Given the description of an element on the screen output the (x, y) to click on. 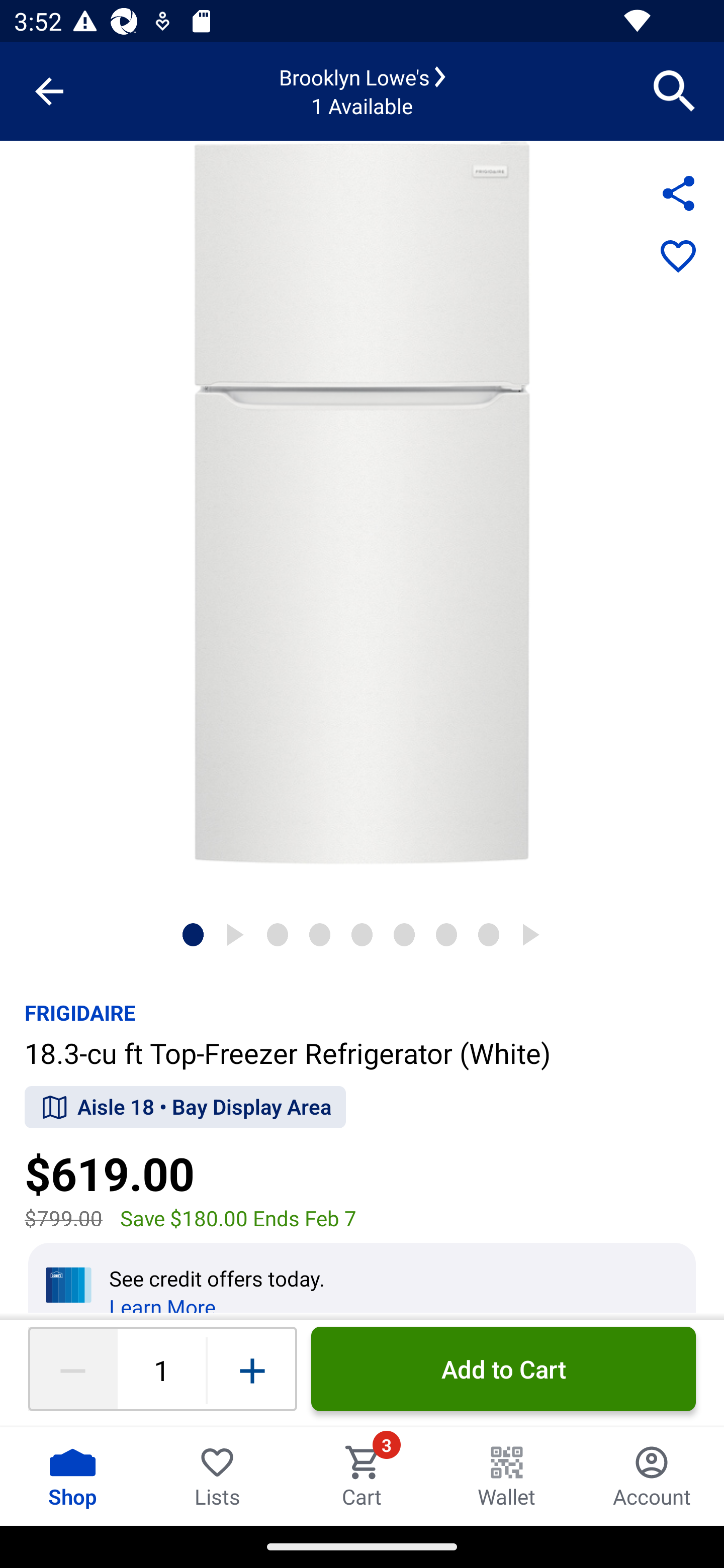
Navigate up (49, 91)
Search for products (674, 90)
Brooklyn Lowe's  1 Available (361, 91)
18.3-cu ft Top-Freezer Refrigerator (White) (362, 502)
Share (678, 193)
Save to List (678, 256)
Aisle Bay Aisle 18 • Bay Display Area (185, 1107)
See credit offers today. Learn More (361, 1277)
Decrease quantity (72, 1368)
1 (161, 1368)
Increase quantity (251, 1368)
Add to Cart (503, 1368)
Lists (216, 1475)
Cart Cart 3 (361, 1475)
Wallet (506, 1475)
Account (651, 1475)
